Given the description of an element on the screen output the (x, y) to click on. 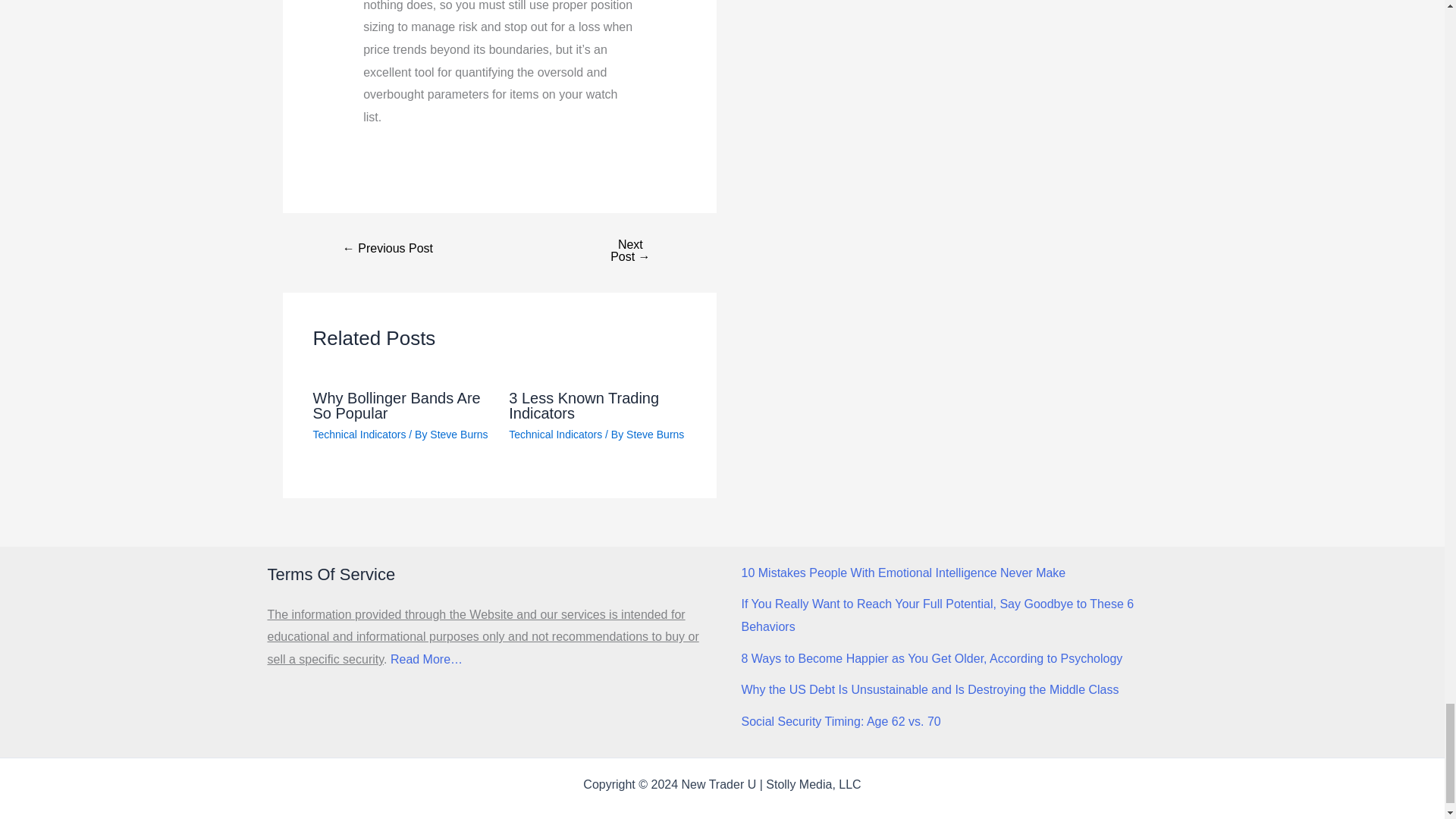
Technical Indicators (555, 434)
3 Less Known Trading Indicators (583, 405)
Understanding the Time Value of Money (387, 248)
Steve Burns (655, 434)
Technical Indicators (359, 434)
View all posts by Steve Burns (655, 434)
View all posts by Steve Burns (458, 434)
Steve Burns (458, 434)
Why Bollinger Bands Are So Popular (396, 405)
